Given the description of an element on the screen output the (x, y) to click on. 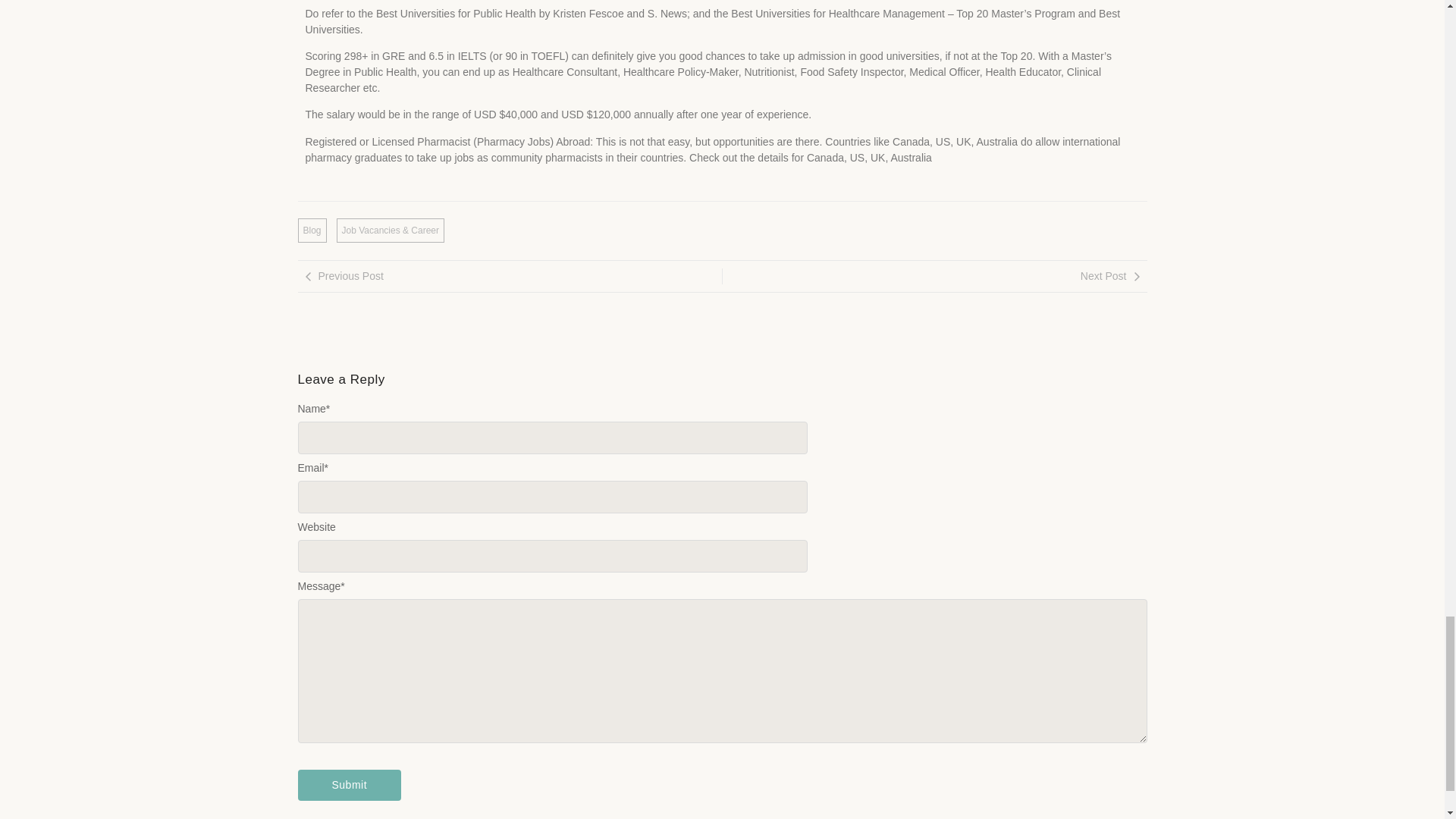
Submit (349, 784)
